Given the description of an element on the screen output the (x, y) to click on. 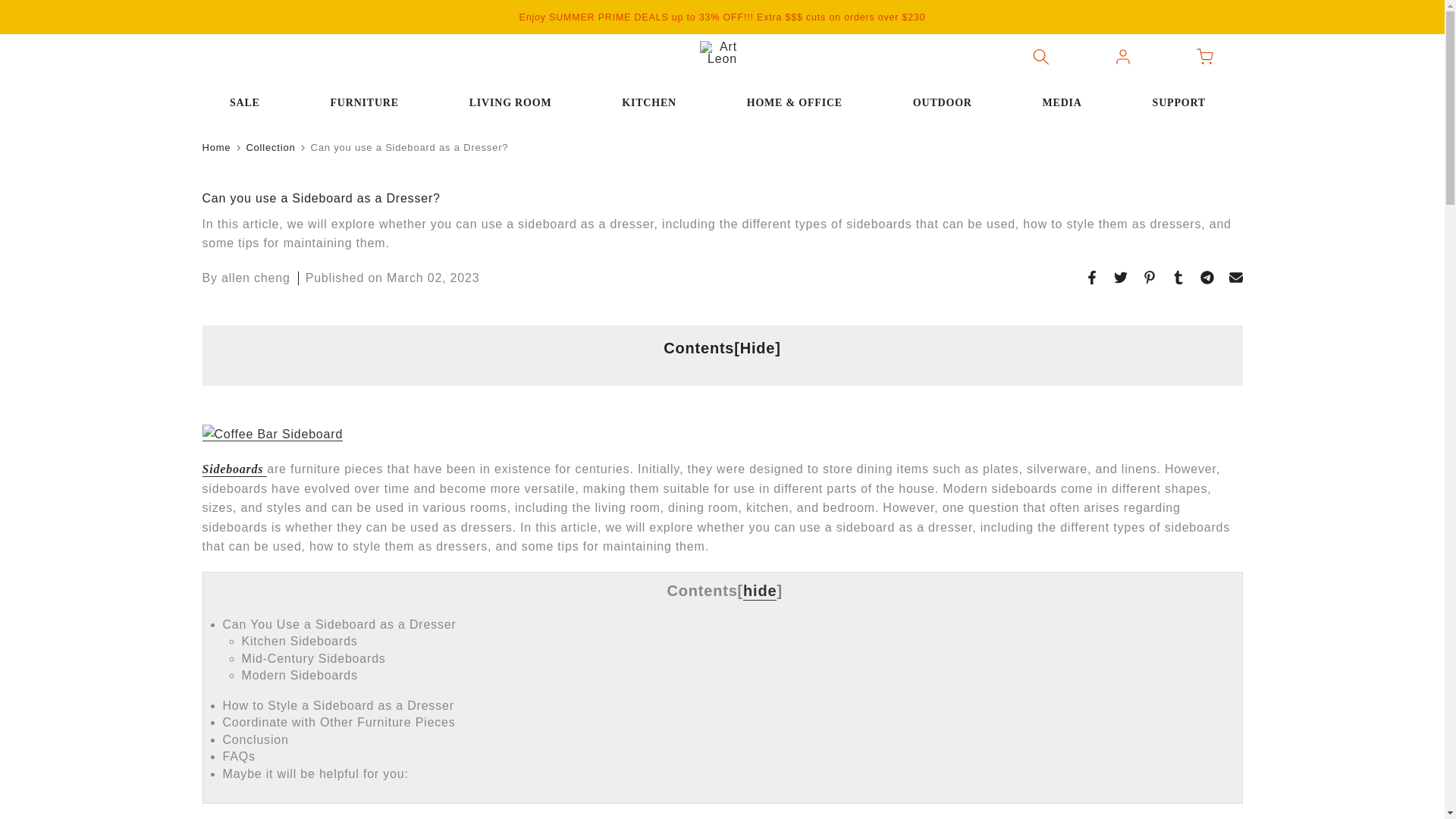
hide (759, 591)
FURNITURE (368, 103)
Collection (270, 147)
Home (216, 147)
MEDIA (1066, 103)
Skip to content (10, 7)
KITCHEN (653, 103)
SUPPORT (1182, 103)
Woven Sideboard (234, 469)
LIVING ROOM (514, 103)
SALE (248, 103)
OUTDOOR (946, 103)
Sideboards (234, 469)
art-leon-sideboard-checkerboard-design (272, 433)
